Given the description of an element on the screen output the (x, y) to click on. 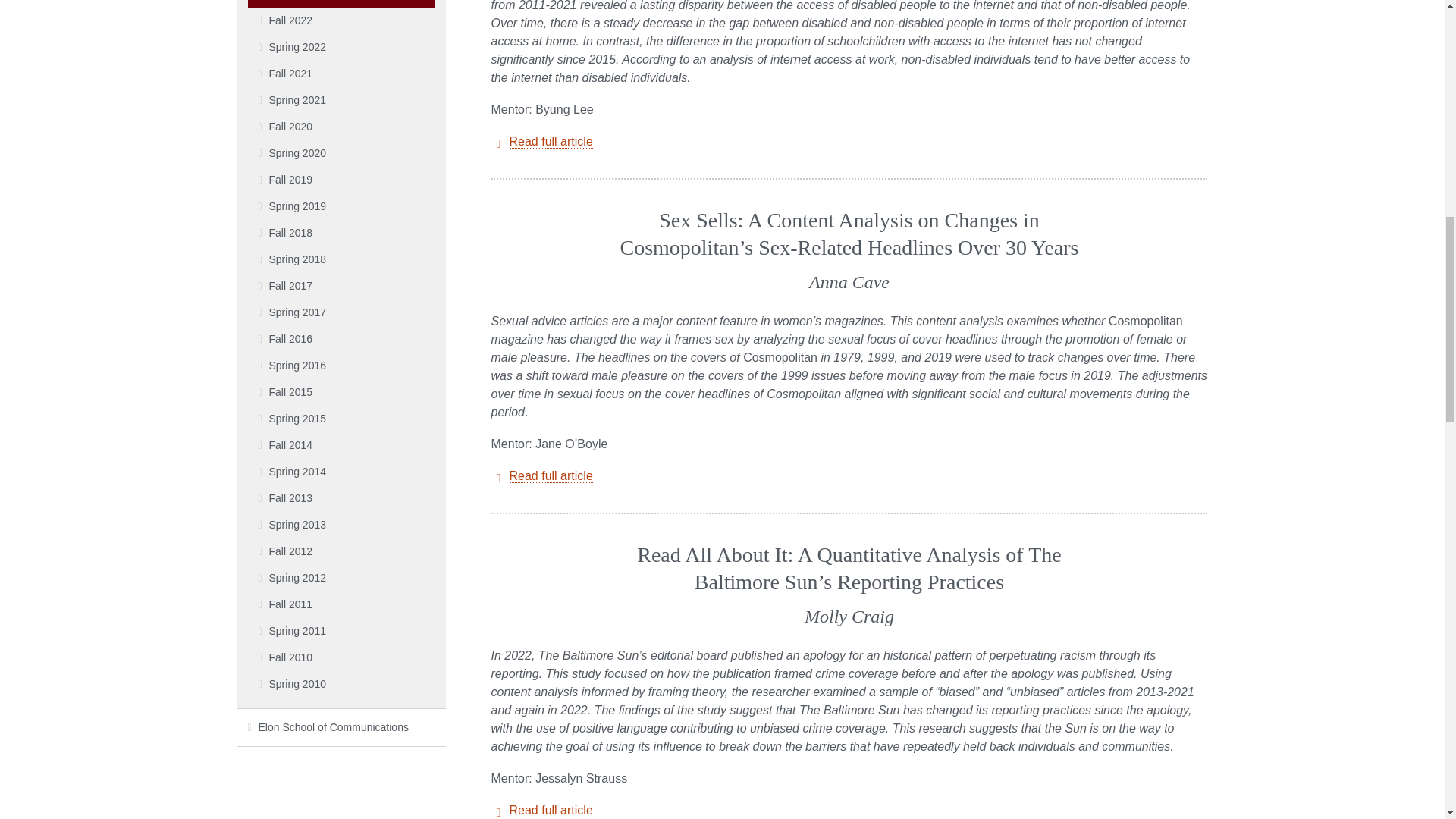
Read full article (550, 141)
Read full article (550, 476)
Read full article (550, 810)
